Given the description of an element on the screen output the (x, y) to click on. 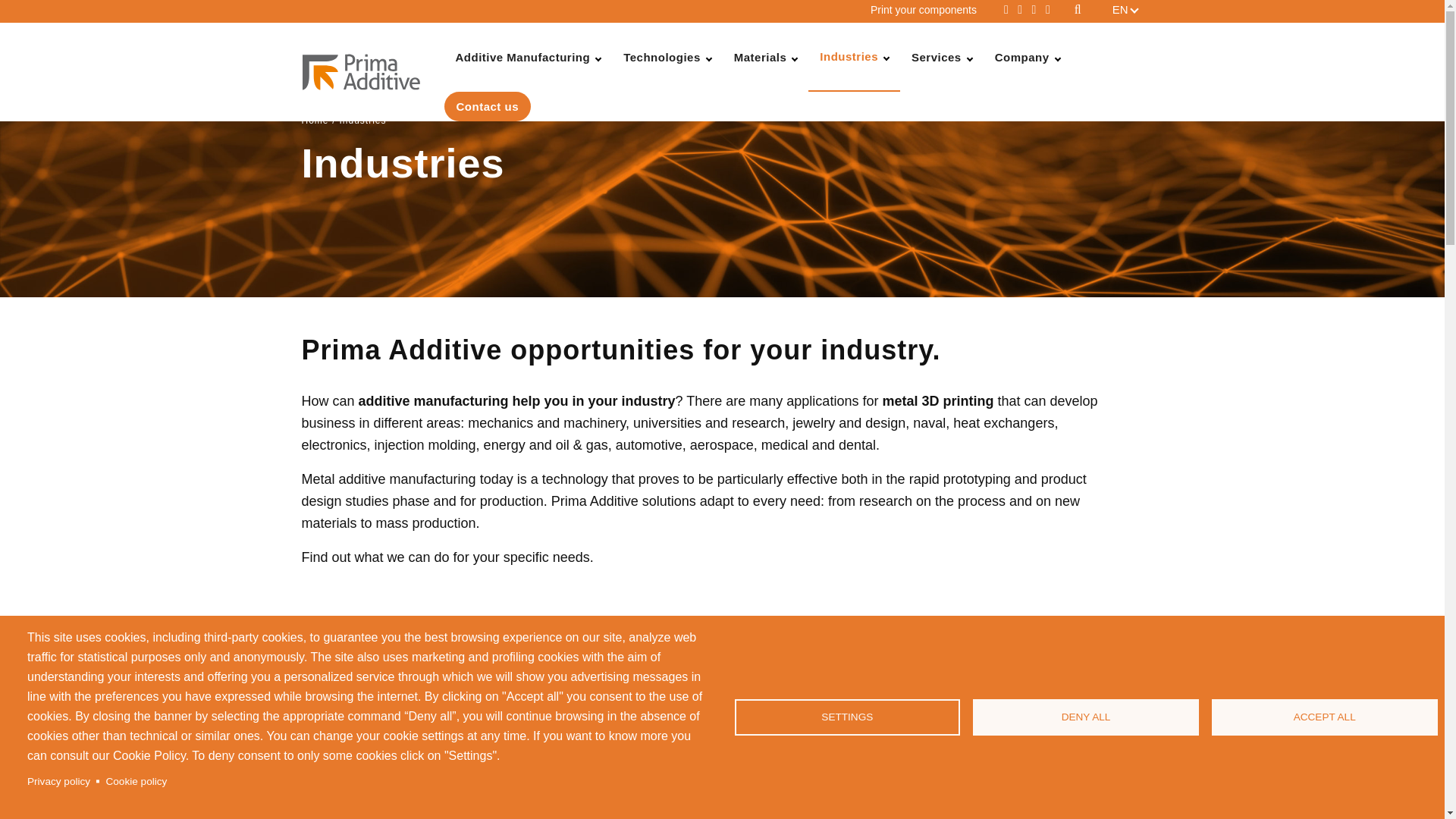
Technologies (666, 56)
Apply (1100, 12)
Print your components (923, 9)
Additive Manufacturing (528, 56)
Materials (765, 56)
Home (372, 71)
